Given the description of an element on the screen output the (x, y) to click on. 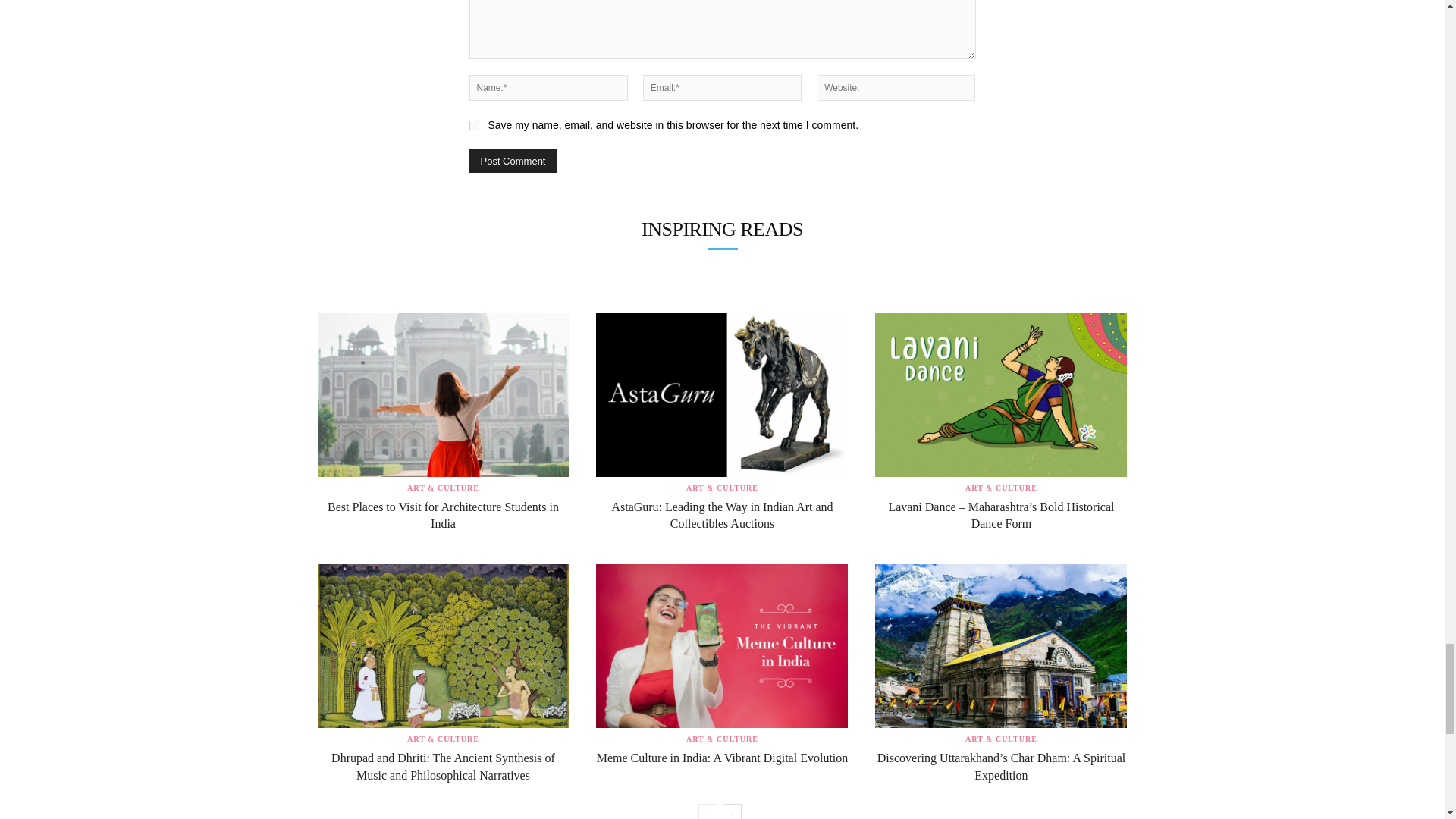
Post Comment (512, 160)
yes (473, 125)
